Given the description of an element on the screen output the (x, y) to click on. 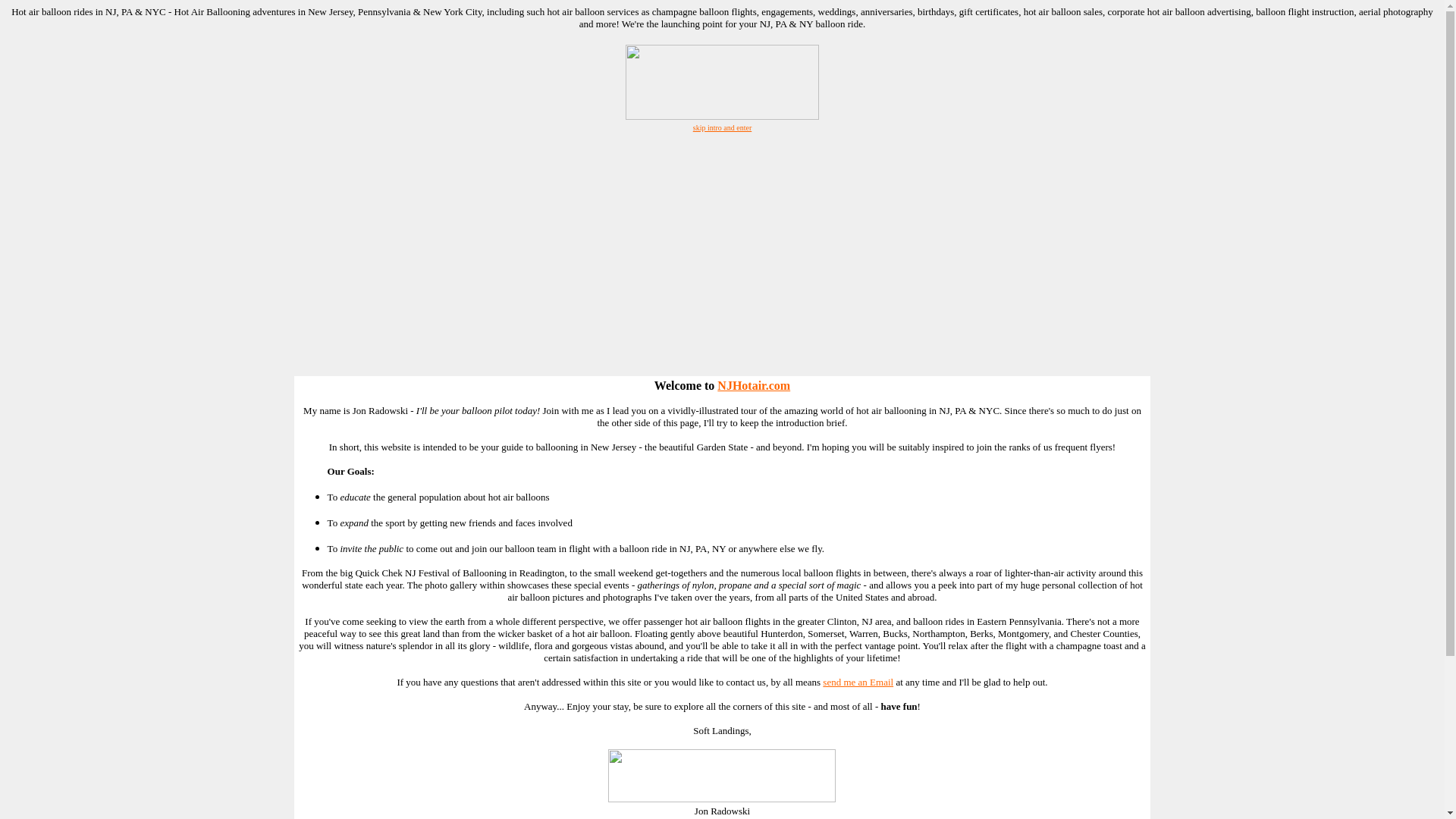
skip intro and enter (722, 125)
send me an Email (857, 681)
NJHotair.com (753, 385)
